Given the description of an element on the screen output the (x, y) to click on. 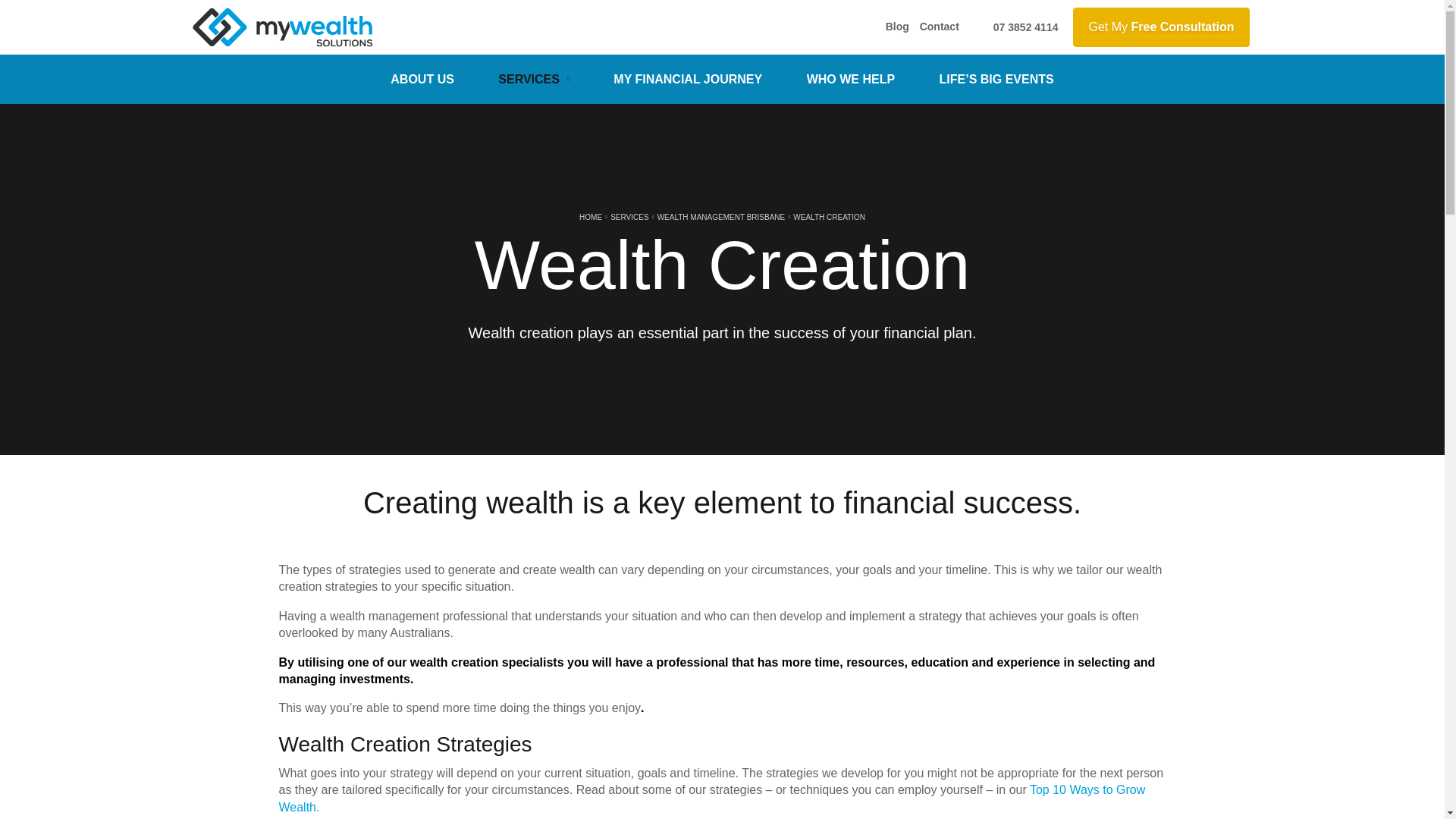
Blog (897, 26)
ABOUT US (421, 79)
Get My Free Consultation (1161, 26)
Contact (938, 26)
SERVICES (533, 79)
My Wealth Solutions (282, 26)
07 3852 4114 (1013, 26)
